Given the description of an element on the screen output the (x, y) to click on. 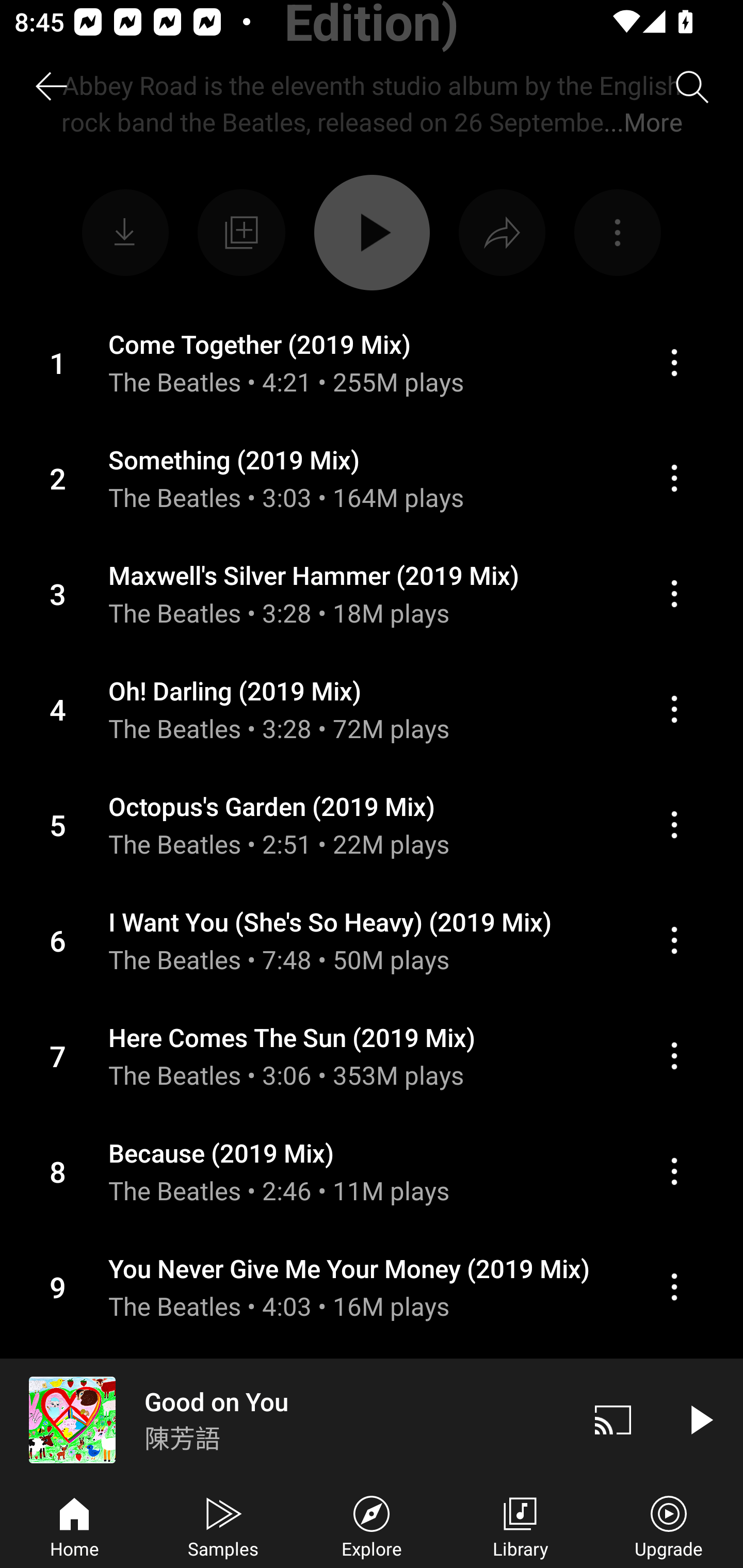
Back (50, 86)
Search (692, 86)
PLAY ALL (371, 231)
Download (125, 232)
Share (501, 232)
Action menu (617, 232)
Save to library (241, 232)
Action menu (371, 362)
Action menu (673, 362)
Action menu (371, 478)
Action menu (673, 478)
Action menu (371, 593)
Action menu (673, 593)
Action menu (371, 708)
Action menu (673, 709)
Action menu (371, 824)
Action menu (673, 824)
Action menu (371, 940)
Action menu (673, 939)
Action menu (371, 1055)
Action menu (673, 1055)
Action menu (371, 1171)
Action menu (673, 1171)
Action menu (371, 1287)
Action menu (673, 1286)
Good on You 陳芳語 (284, 1419)
Cast. Disconnected (612, 1419)
Play video (699, 1419)
Home (74, 1524)
Samples (222, 1524)
Explore (371, 1524)
Library (519, 1524)
Upgrade (668, 1524)
